Given the description of an element on the screen output the (x, y) to click on. 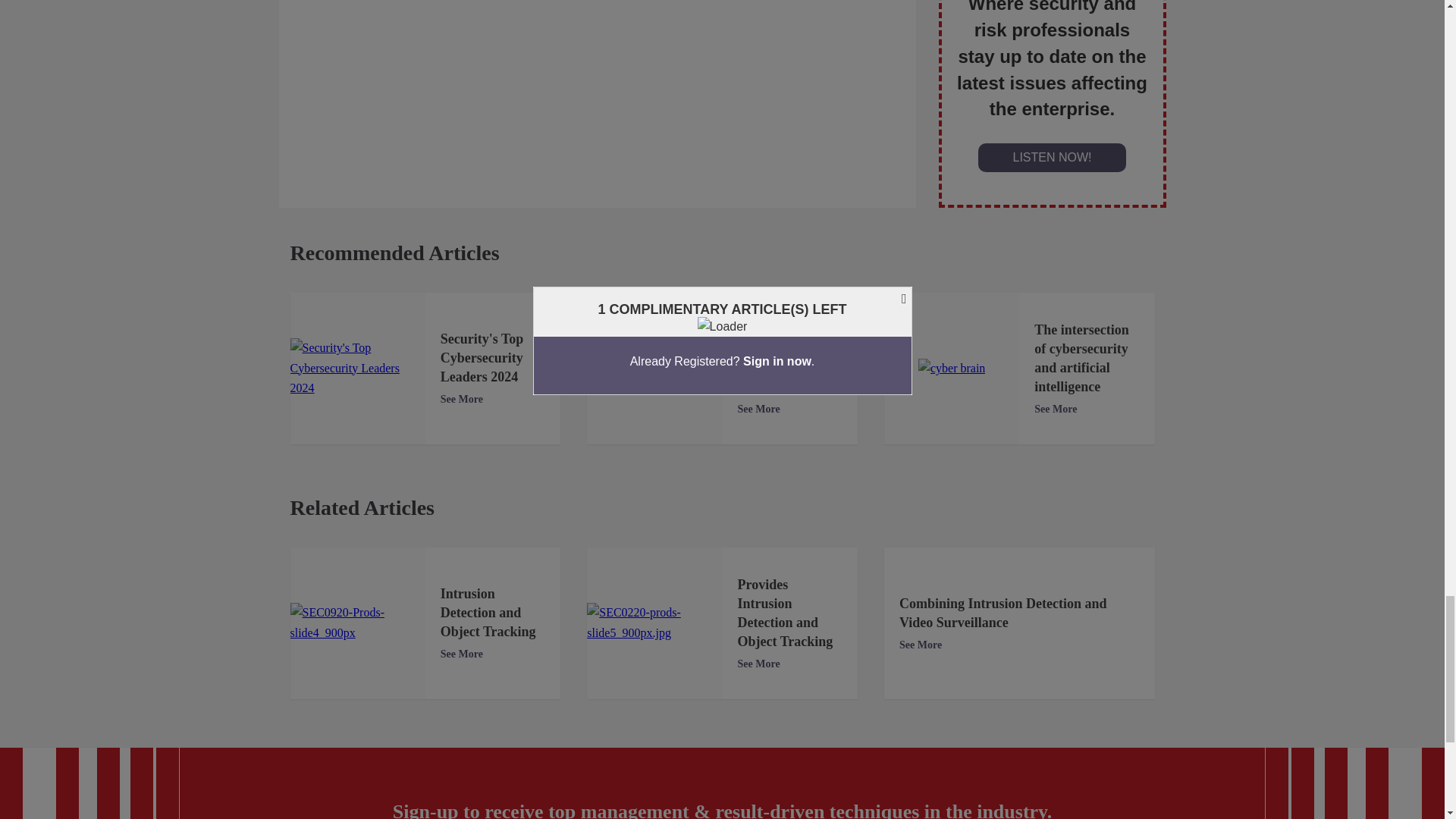
Artificial Intelligence (654, 368)
Security's Top Cybersecurity Leaders 2024 (357, 368)
cyber brain (951, 368)
